Given the description of an element on the screen output the (x, y) to click on. 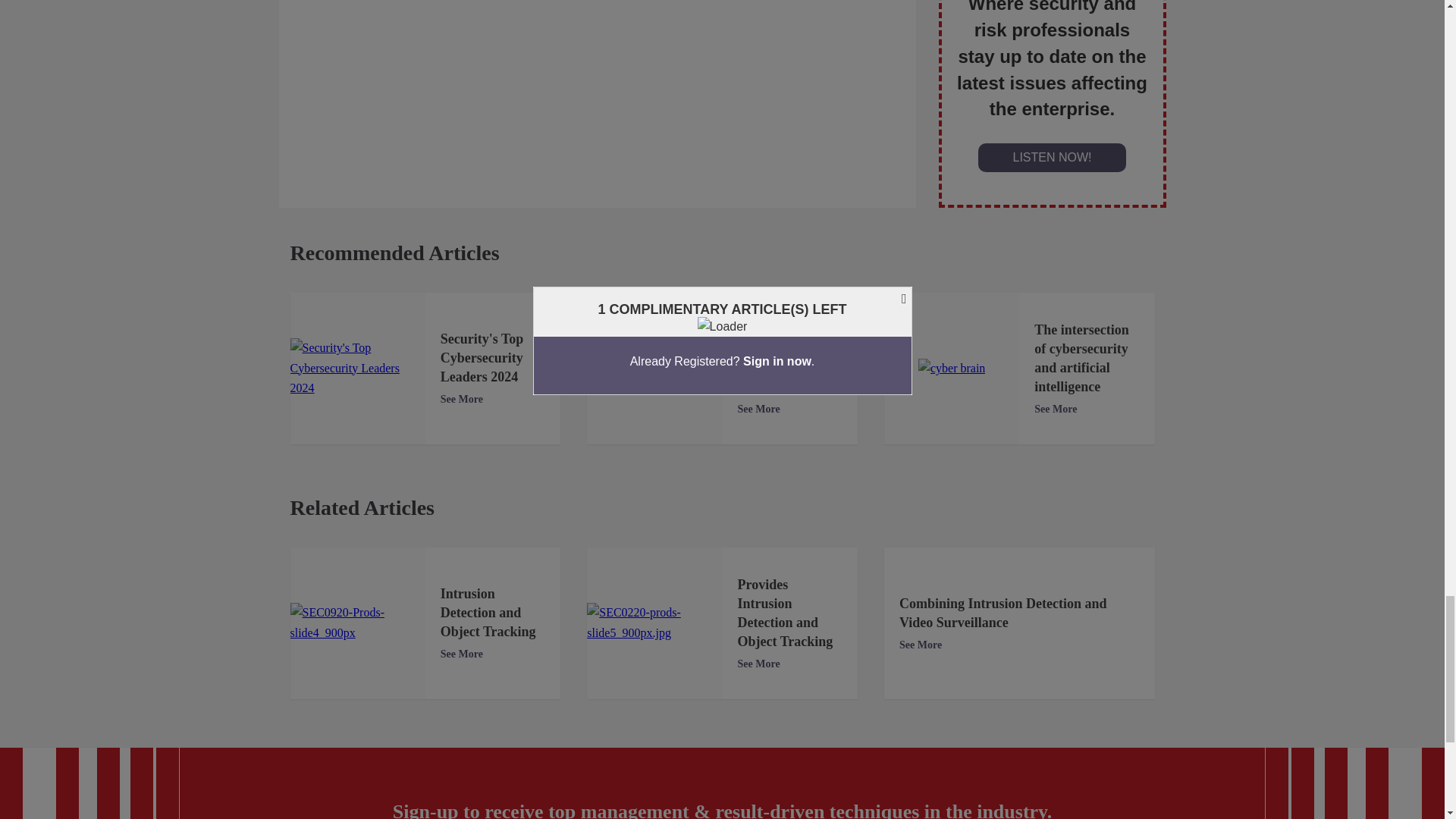
Artificial Intelligence (654, 368)
Security's Top Cybersecurity Leaders 2024 (357, 368)
cyber brain (951, 368)
